Given the description of an element on the screen output the (x, y) to click on. 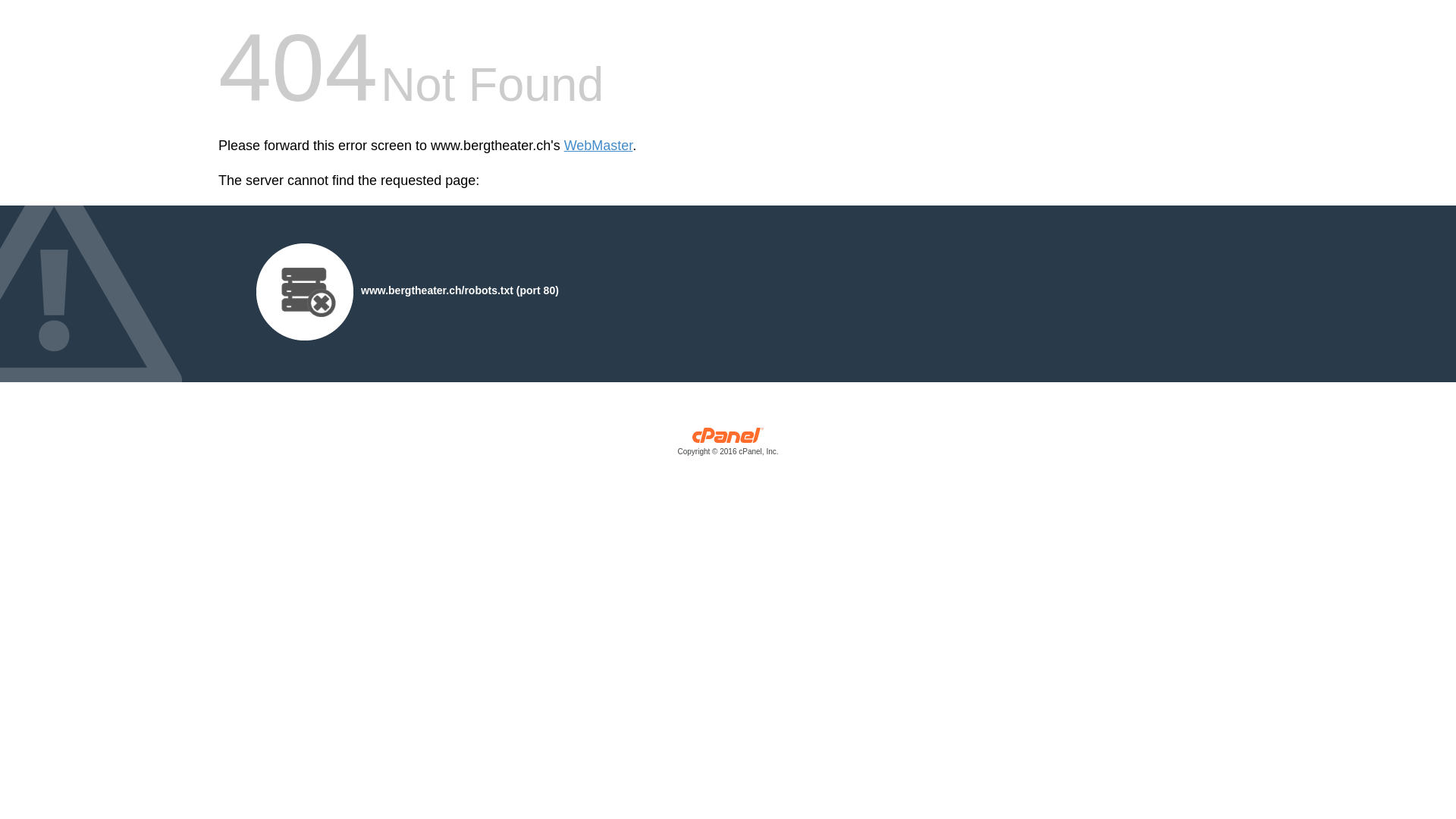
WebMaster Element type: text (598, 145)
